Given the description of an element on the screen output the (x, y) to click on. 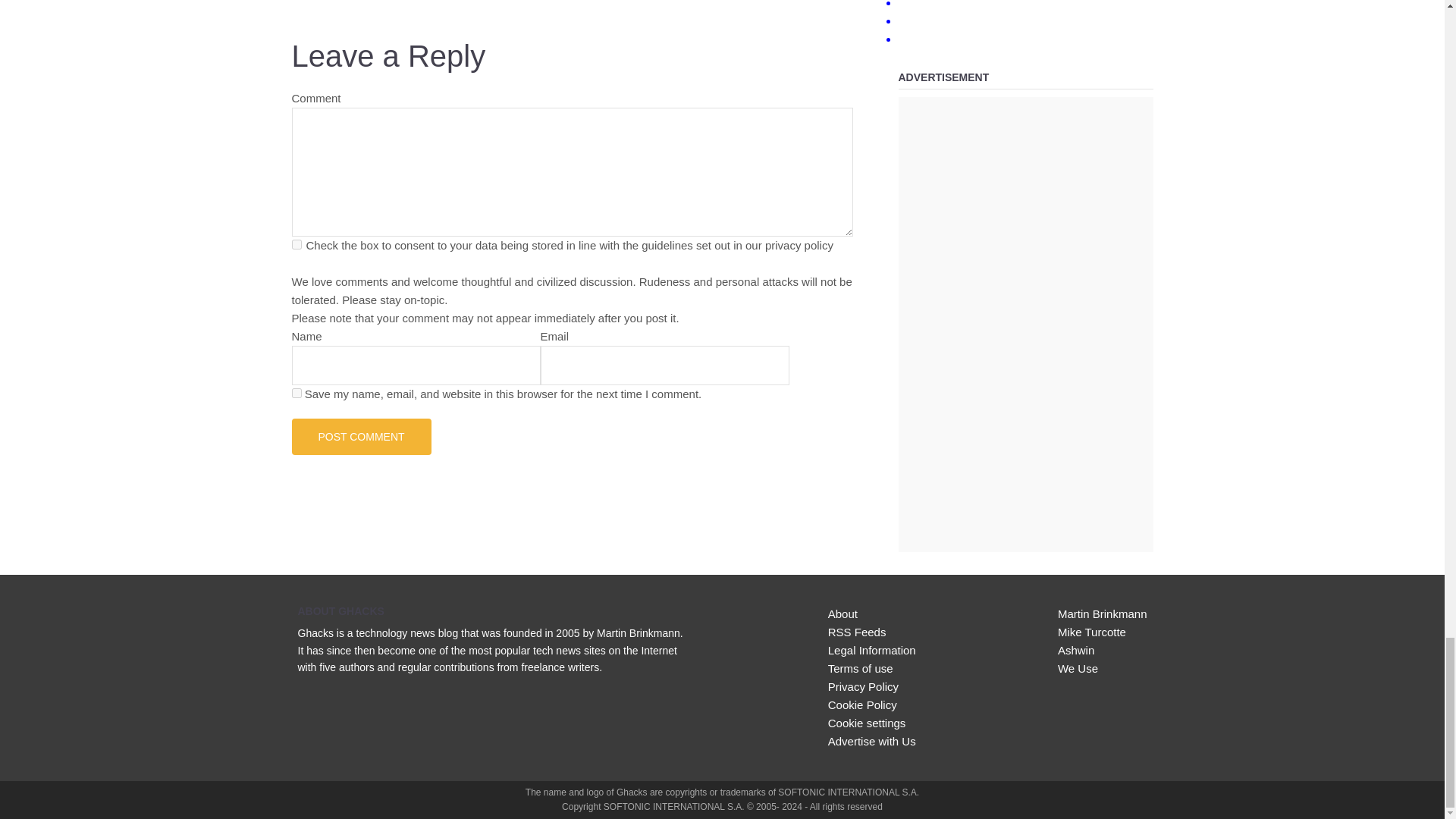
yes (296, 393)
Post Comment (360, 436)
privacy-key (296, 244)
